Given the description of an element on the screen output the (x, y) to click on. 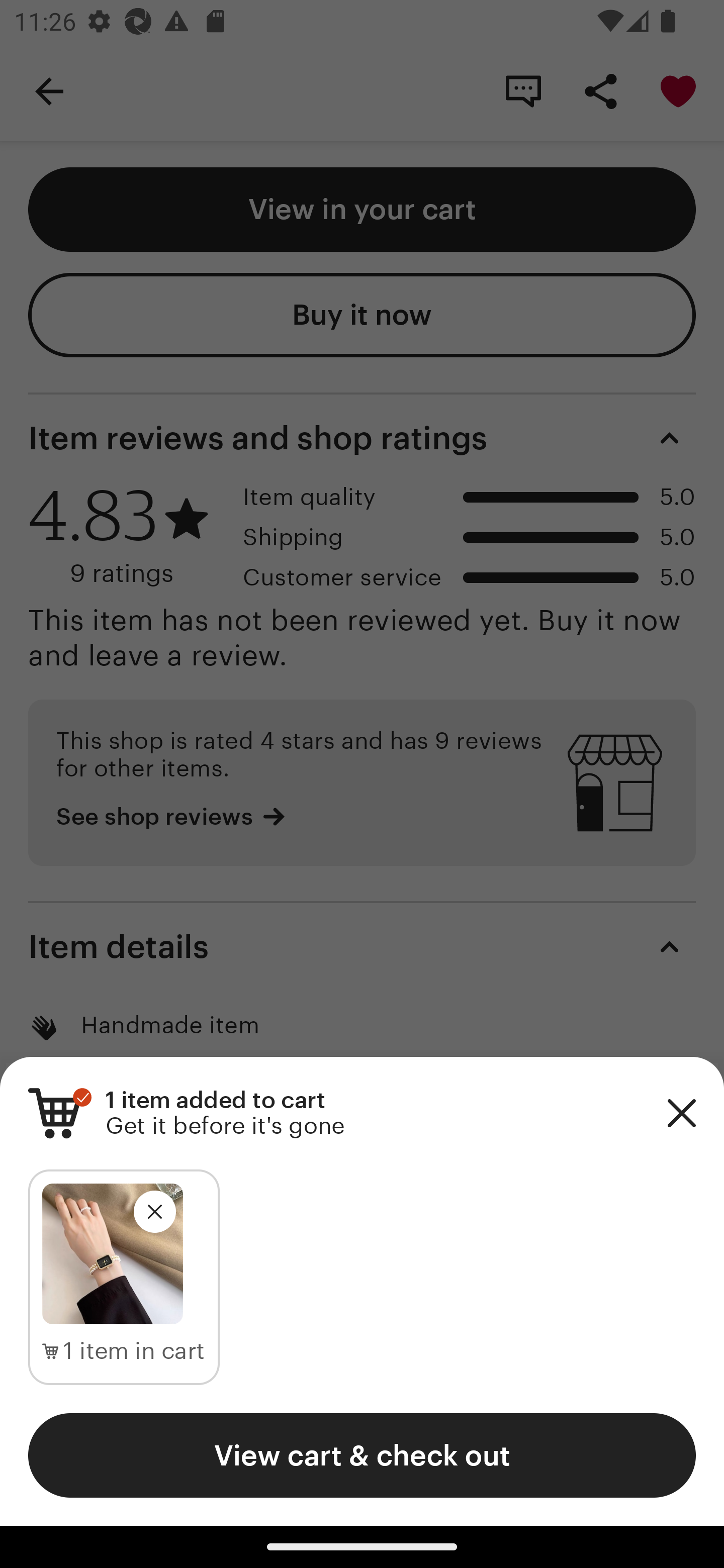
1 item in cart (123, 1351)
View cart & check out (361, 1454)
